Given the description of an element on the screen output the (x, y) to click on. 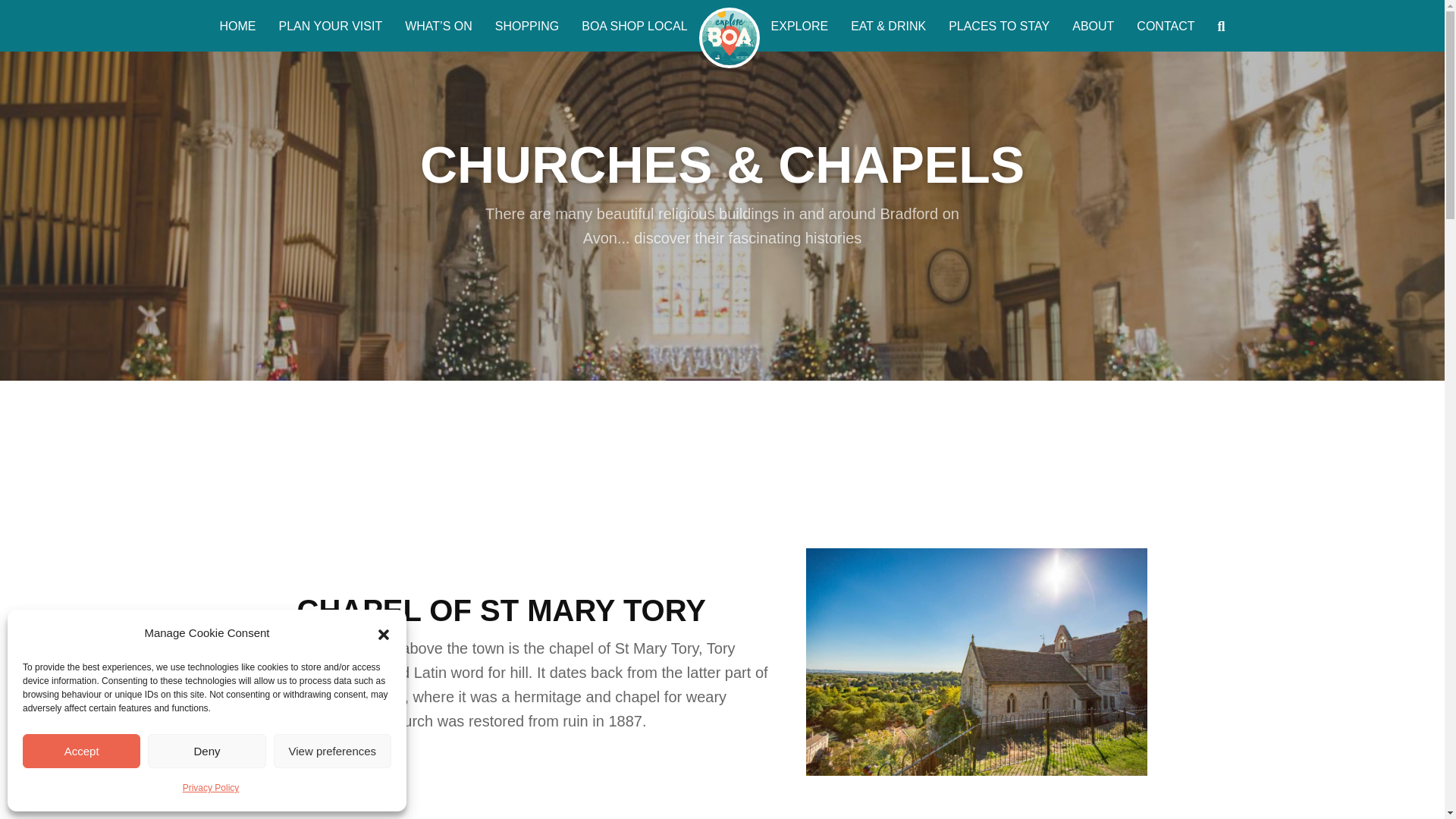
EXPLORE (800, 26)
Deny (206, 750)
View preferences (332, 750)
Accept (81, 750)
PLAN YOUR VISIT (330, 26)
SHOPPING (526, 26)
ABOUT (1093, 26)
BOA SHOP LOCAL (634, 26)
BRADFORD ON AVON (729, 37)
CONTACT (1165, 26)
HOME (237, 26)
PLACES TO STAY (999, 26)
Privacy Policy (211, 787)
